Given the description of an element on the screen output the (x, y) to click on. 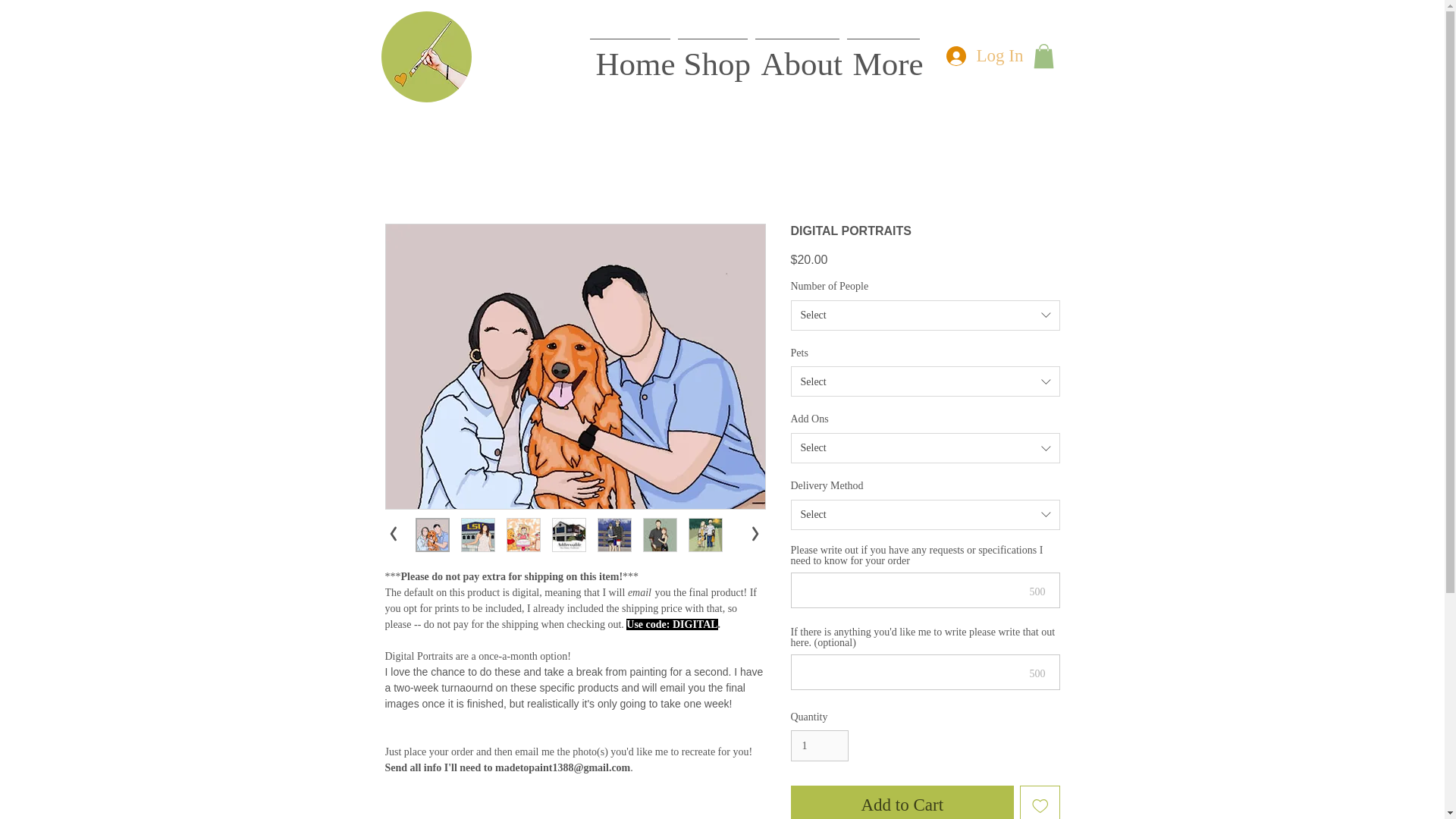
Select (924, 448)
Select (924, 381)
About (797, 57)
Home (628, 57)
Log In (981, 56)
Shop (711, 57)
Add to Cart (901, 802)
1 (818, 745)
Select (924, 315)
Select (924, 514)
